Given the description of an element on the screen output the (x, y) to click on. 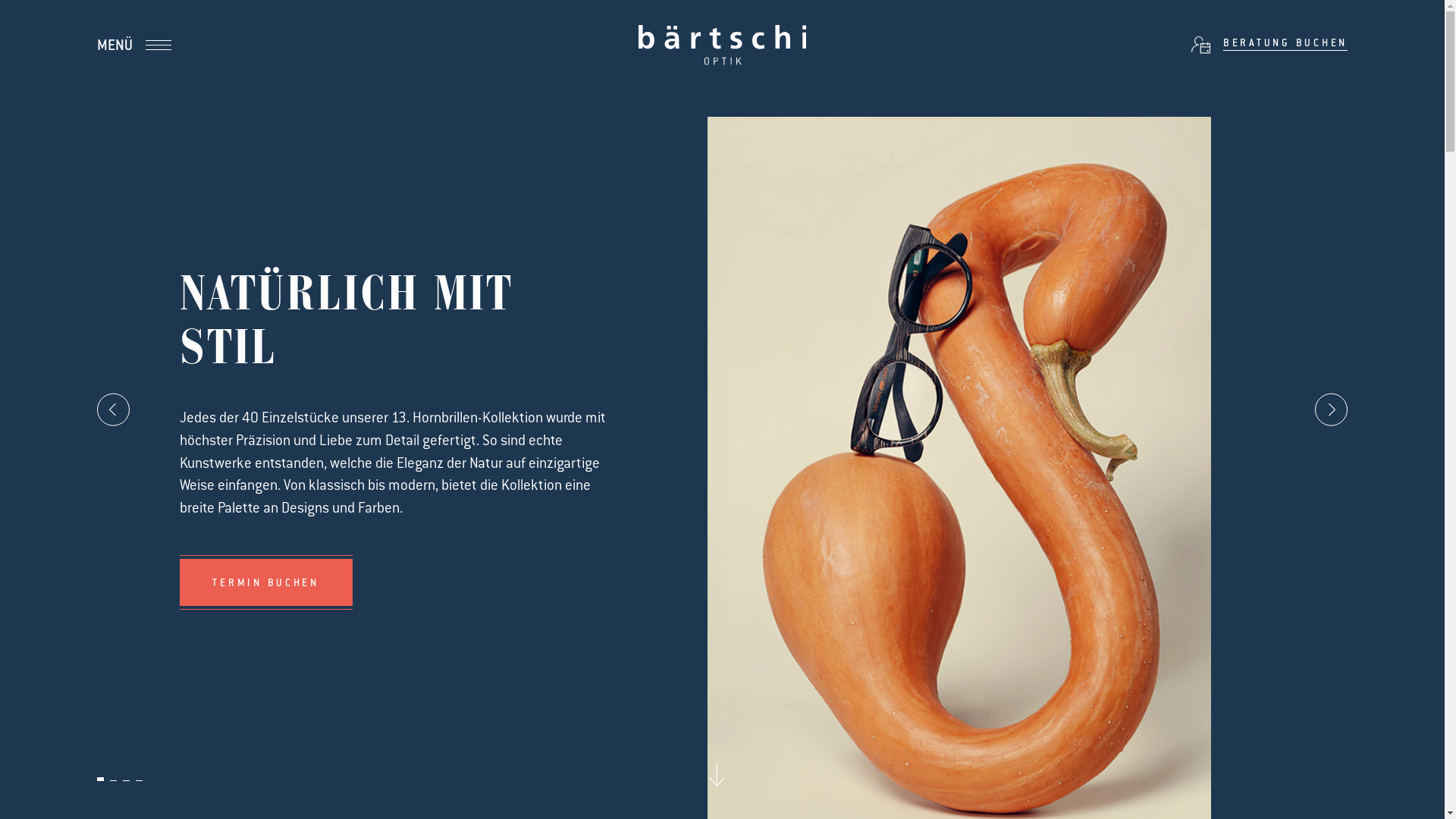
BERATUNG BUCHEN Element type: text (1269, 44)
TERMIN BUCHEN Element type: text (265, 582)
